Given the description of an element on the screen output the (x, y) to click on. 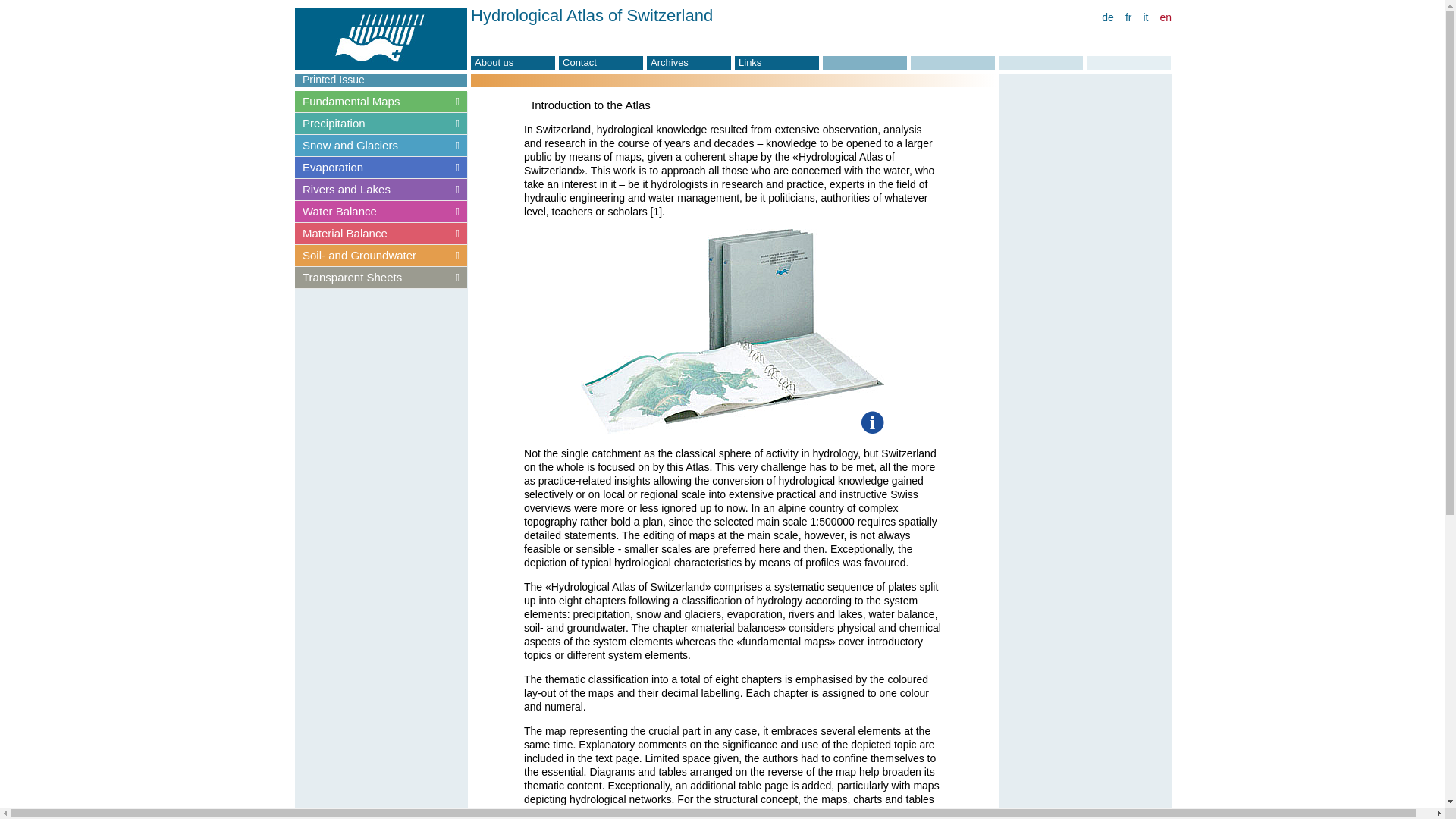
it (1145, 17)
en (1165, 17)
de (1107, 17)
Fundamental Maps (381, 101)
Links (776, 61)
"Ring binder" (731, 331)
Precipitation (381, 122)
Snow and Glaciers (381, 145)
fr (1128, 17)
Archives (688, 61)
About us (512, 61)
Contact (601, 61)
Printed Issue (381, 79)
